Given the description of an element on the screen output the (x, y) to click on. 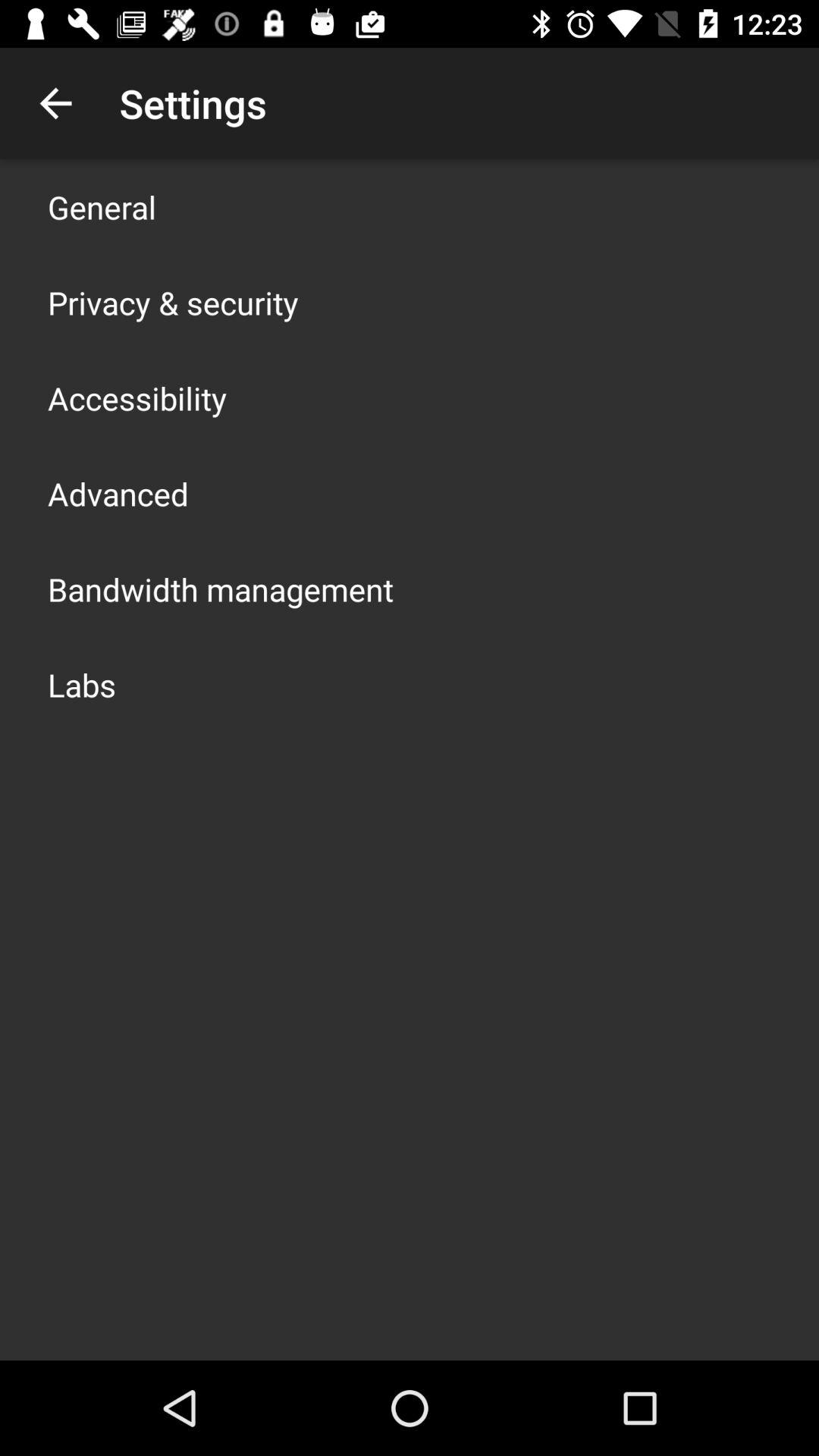
choose the item below accessibility icon (117, 493)
